Given the description of an element on the screen output the (x, y) to click on. 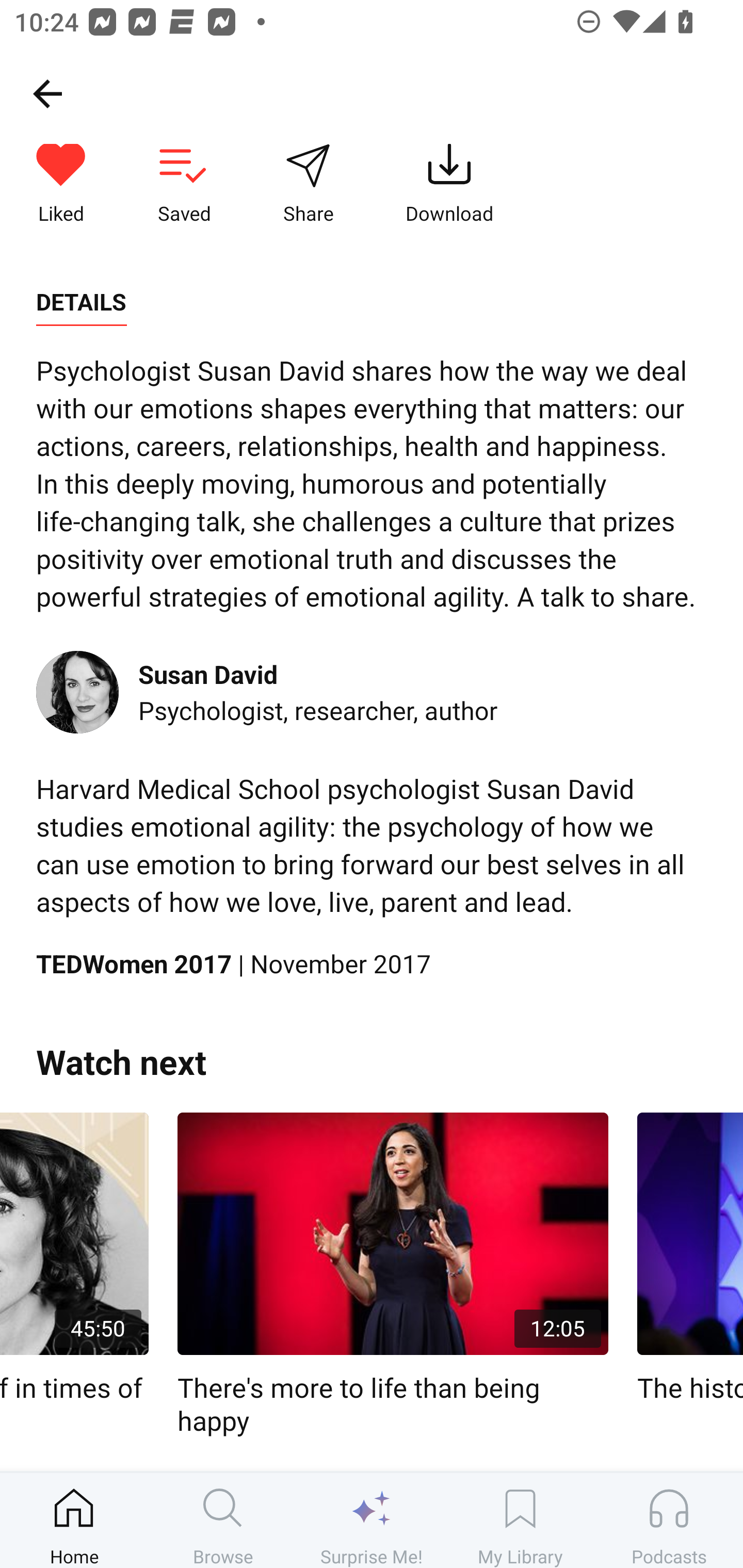
Home, back (47, 92)
Liked (60, 184)
Saved (183, 184)
Share (308, 184)
Download (449, 184)
DETAILS (80, 302)
12:05 There's more to life than being happy (392, 1275)
Home (74, 1520)
Browse (222, 1520)
Surprise Me! (371, 1520)
My Library (519, 1520)
Podcasts (668, 1520)
